Given the description of an element on the screen output the (x, y) to click on. 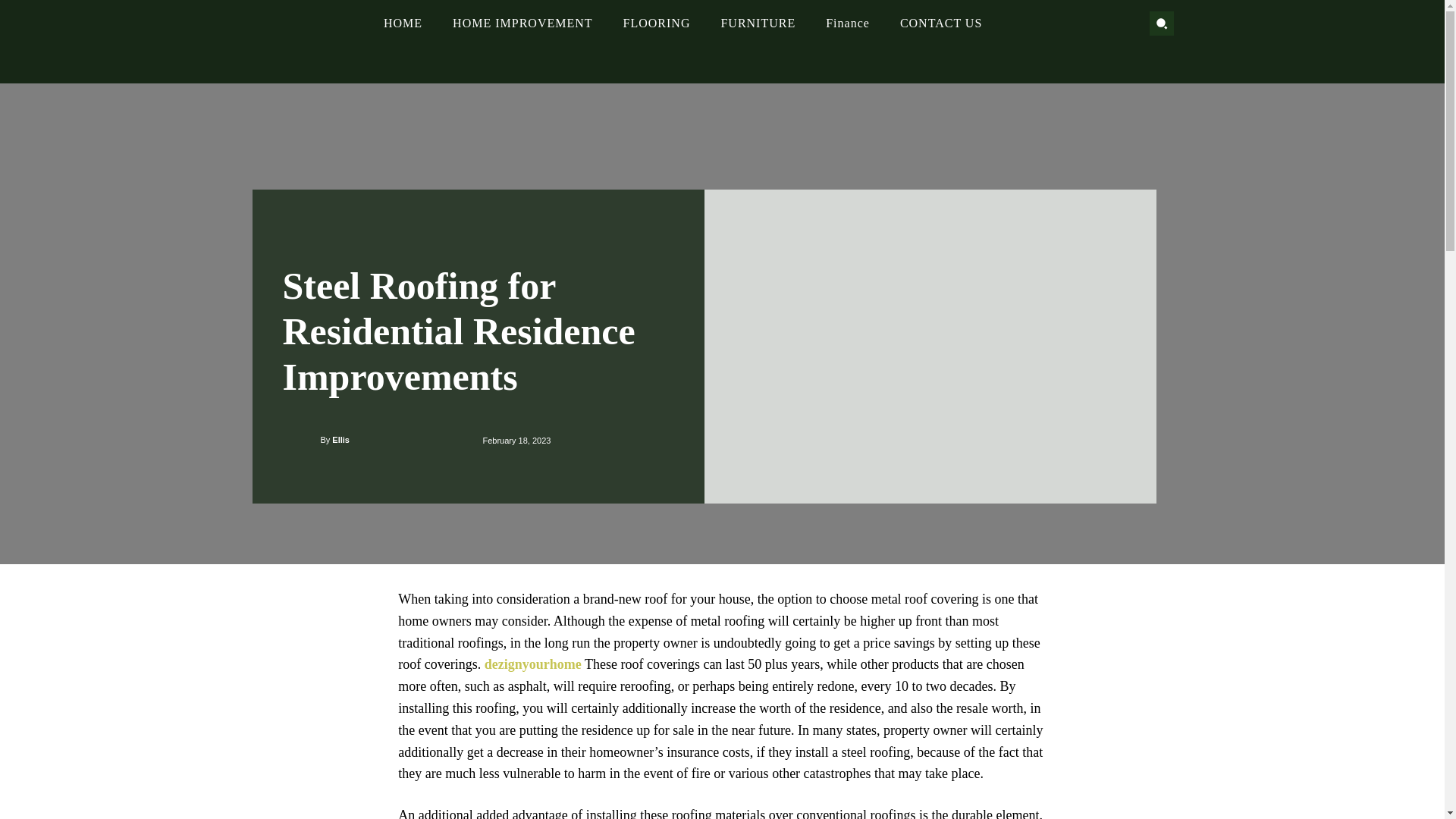
FLOORING (656, 23)
FURNITURE (757, 23)
HOME IMPROVEMENT (522, 23)
dezignyourhome (532, 663)
HOME (402, 23)
Ellis (309, 439)
CONTACT US (940, 23)
Finance (846, 23)
